Given the description of an element on the screen output the (x, y) to click on. 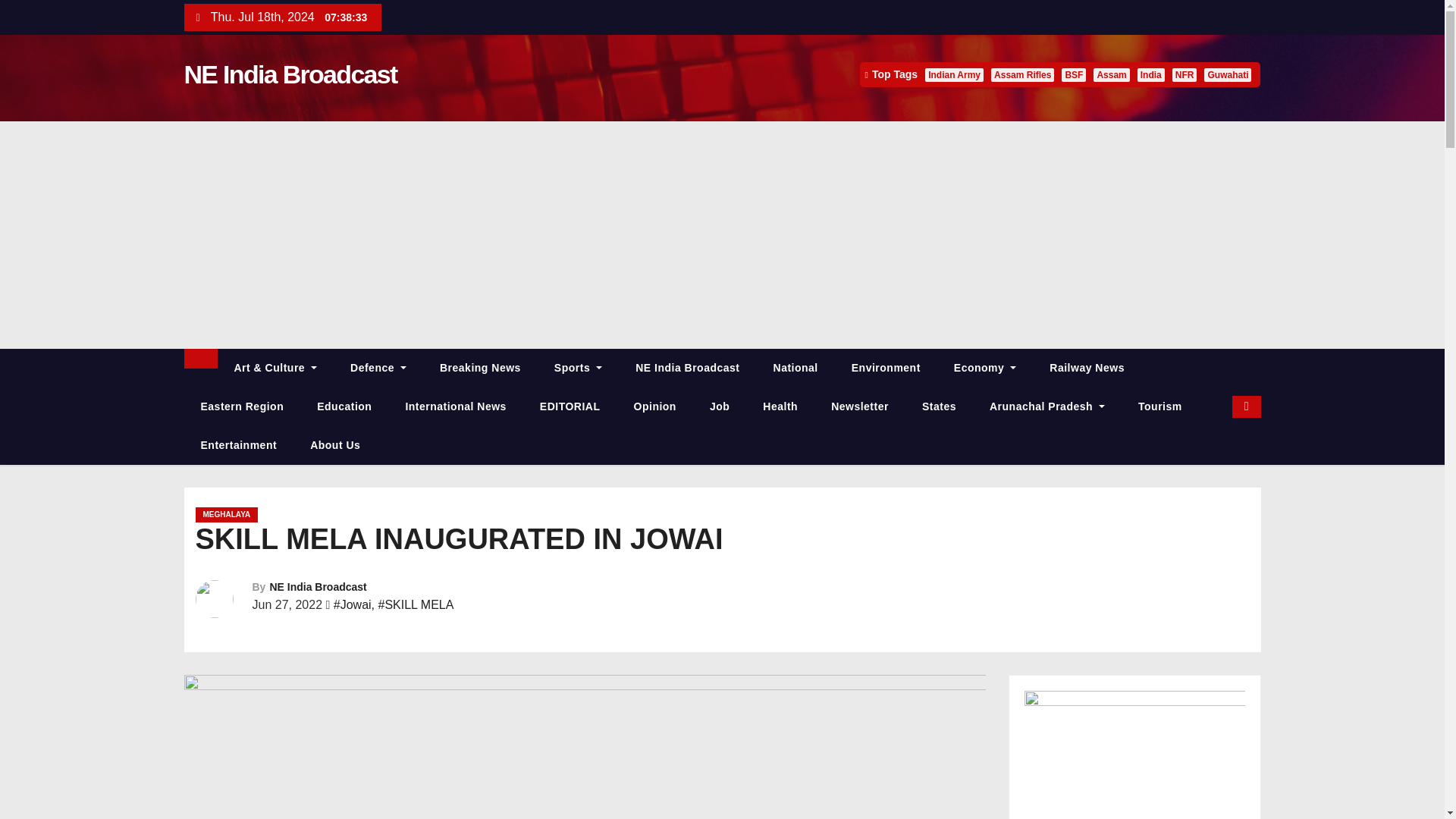
NFR (1184, 74)
Defence (378, 367)
Health (779, 406)
NE India Broadcast (686, 367)
Assam (1111, 74)
Sports (577, 367)
Job (719, 406)
Newsletter (859, 406)
Economy (984, 367)
Environment (885, 367)
National (795, 367)
EDITORIAL (569, 406)
Home (199, 358)
International News (455, 406)
Eastern Region (241, 406)
